Given the description of an element on the screen output the (x, y) to click on. 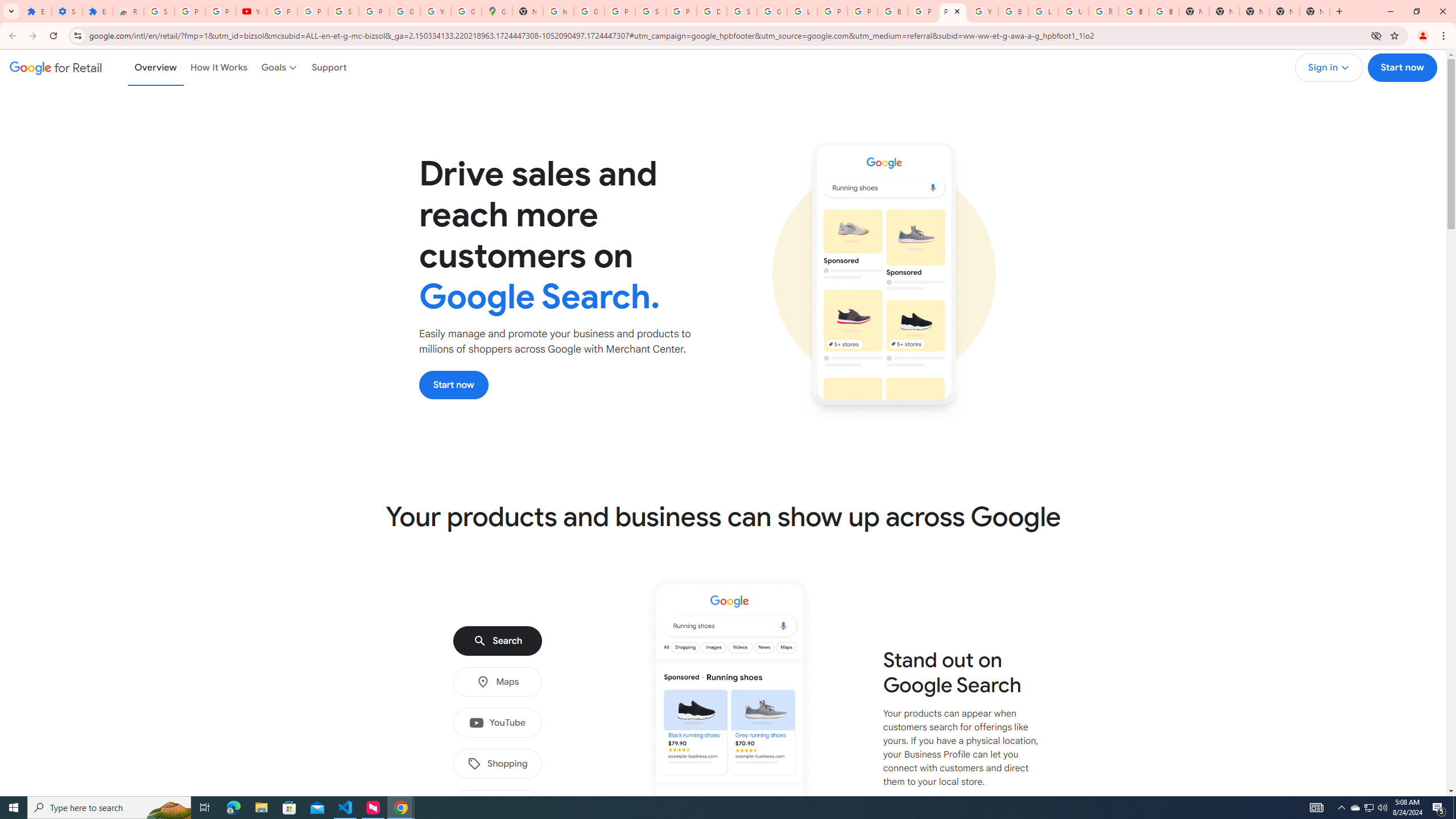
Sign in - Google Accounts (343, 11)
Privacy Help Center - Policies Help (862, 11)
YouTube (251, 11)
Support (328, 67)
Goals (279, 67)
Sign in - Google Accounts (741, 11)
